Given the description of an element on the screen output the (x, y) to click on. 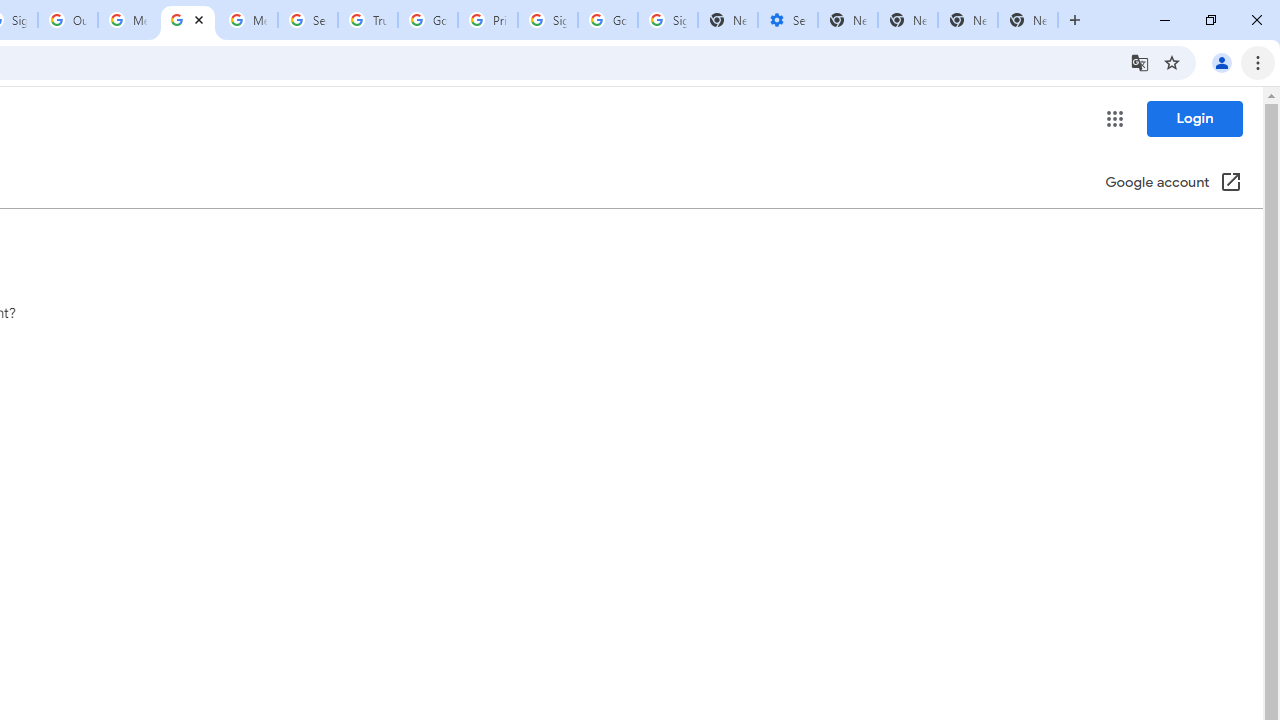
Settings - Performance (787, 20)
Google Account (Opens in new window) (1173, 183)
New Tab (1028, 20)
Sign in - Google Accounts (548, 20)
Google Cybersecurity Innovations - Google Safety Center (607, 20)
Login (1194, 118)
Google Ads - Sign in (428, 20)
Sign in - Google Accounts (667, 20)
Search our Doodle Library Collection - Google Doodles (307, 20)
